Given the description of an element on the screen output the (x, y) to click on. 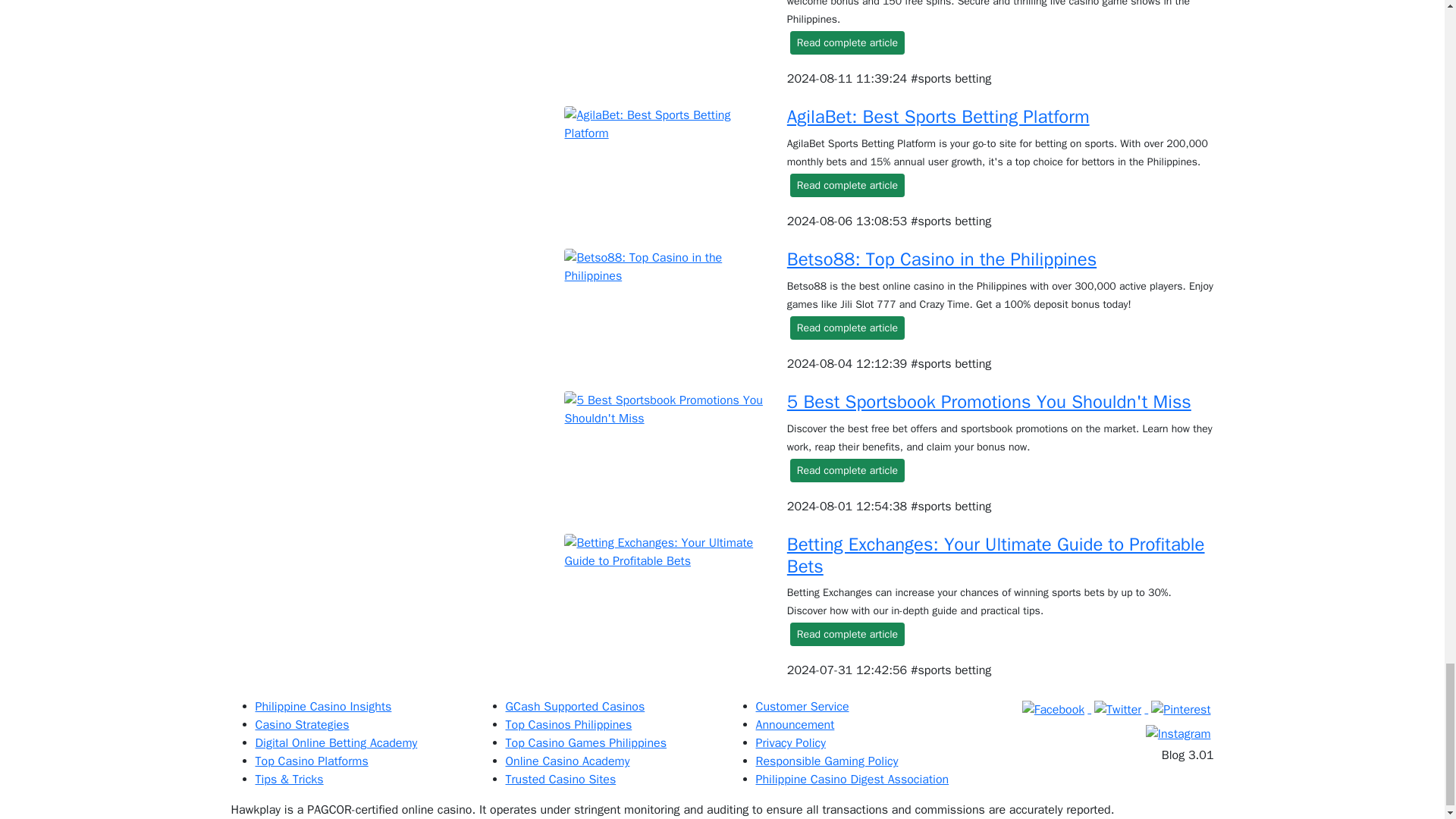
Betso88: Top Casino in the Philippines (941, 259)
AgilaBet: Best Sports Betting Platform (938, 116)
Read complete article (847, 185)
Read complete article (847, 327)
Read complete article (847, 42)
